Given the description of an element on the screen output the (x, y) to click on. 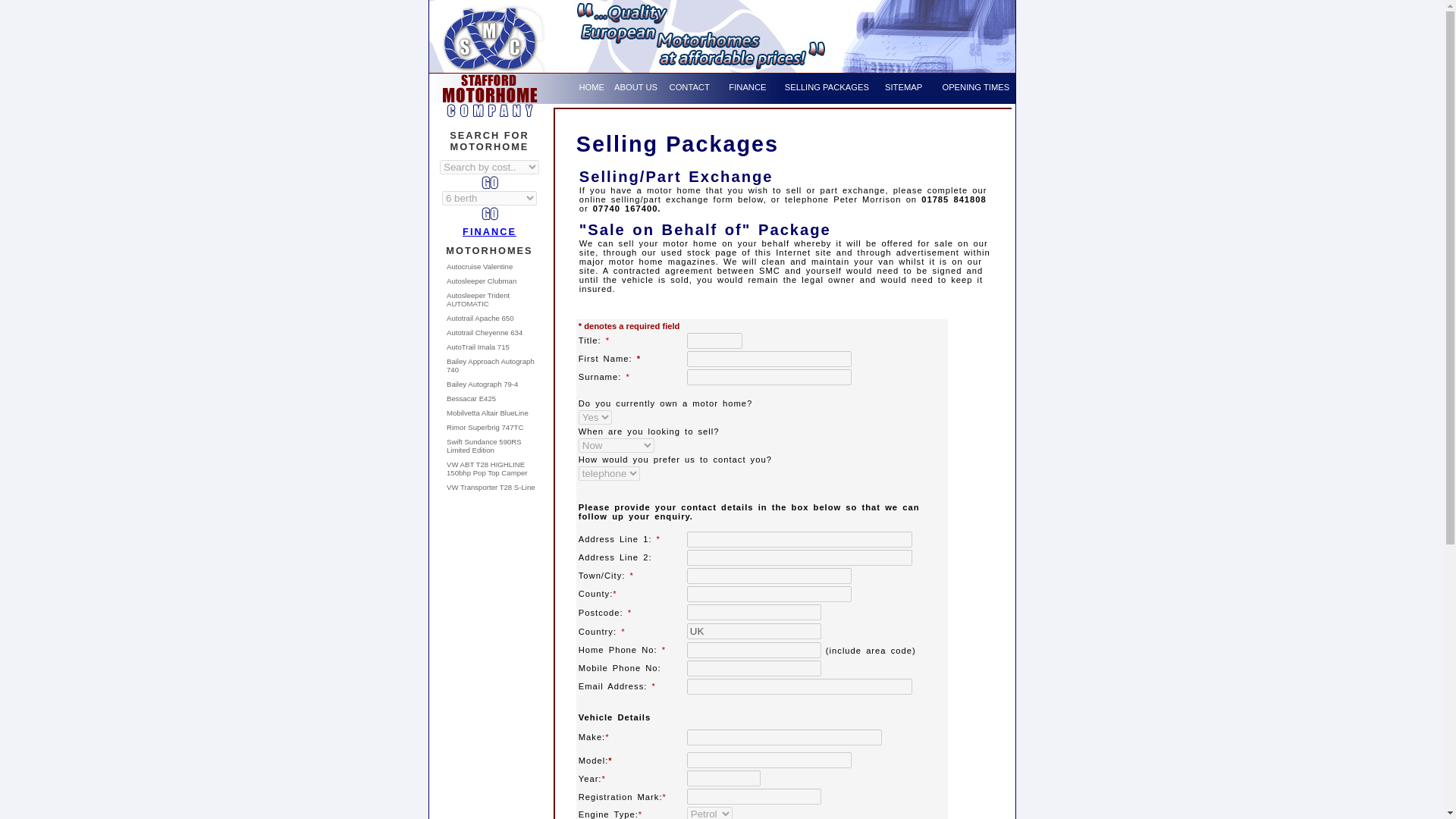
SELLING PACKAGES (826, 86)
Contact (689, 86)
Opening Times (975, 86)
Bailey Approach Autograph 740 (490, 365)
SITEMAP (903, 86)
Finance (747, 86)
Swift Sundance 590RS Limited Edition (483, 445)
selling packages (826, 86)
FINANCE (747, 86)
Rimor Superbrig 747TC (484, 427)
Bessacar E425 (471, 397)
FINANCE (489, 231)
Autosleeper Trident AUTOMATIC (477, 299)
Autotrail Cheyenne 634 (484, 332)
Mobilvetta Altair BlueLine (487, 412)
